Given the description of an element on the screen output the (x, y) to click on. 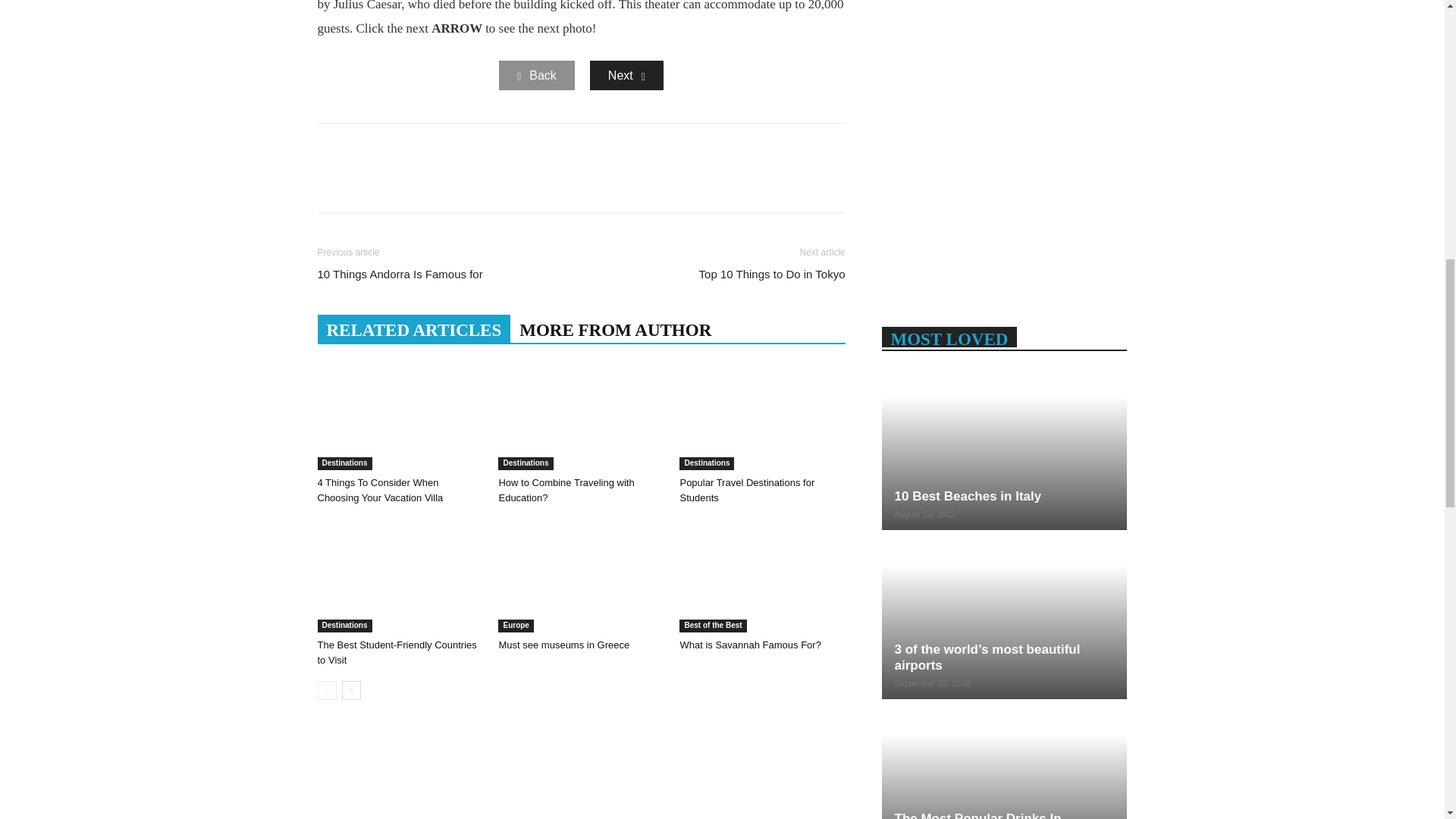
4 Things To Consider When Choosing Your Vacation Villa (399, 413)
